Given the description of an element on the screen output the (x, y) to click on. 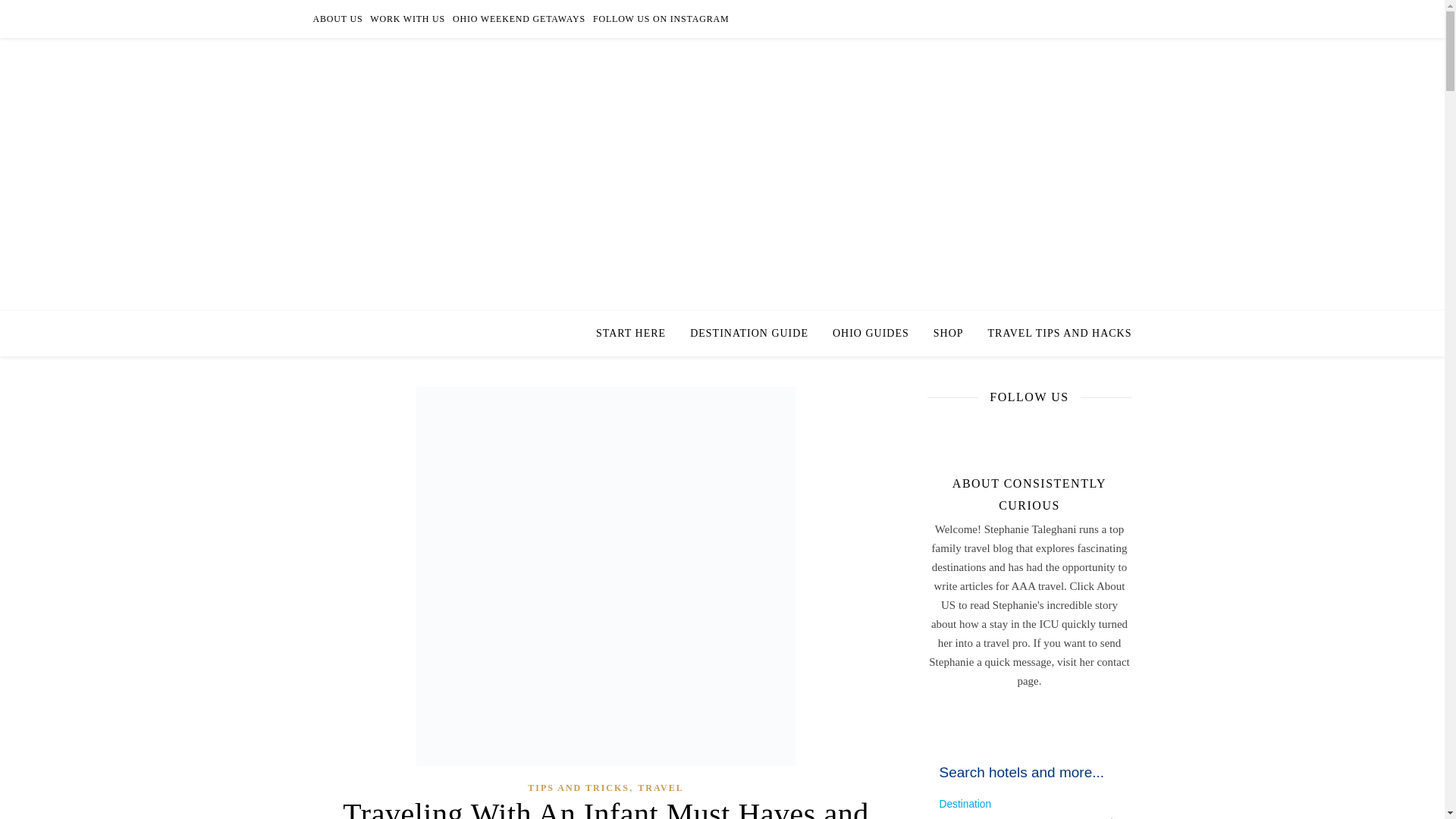
OHIO WEEKEND GETAWAYS (518, 18)
TIPS AND TRICKS (577, 787)
FOLLOW US ON INSTAGRAM (659, 18)
SHOP (948, 333)
DESTINATION GUIDE (749, 333)
START HERE (636, 333)
OHIO GUIDES (871, 333)
WORK WITH US (407, 18)
TRAVEL (659, 787)
TRAVEL TIPS AND HACKS (1053, 333)
